Given the description of an element on the screen output the (x, y) to click on. 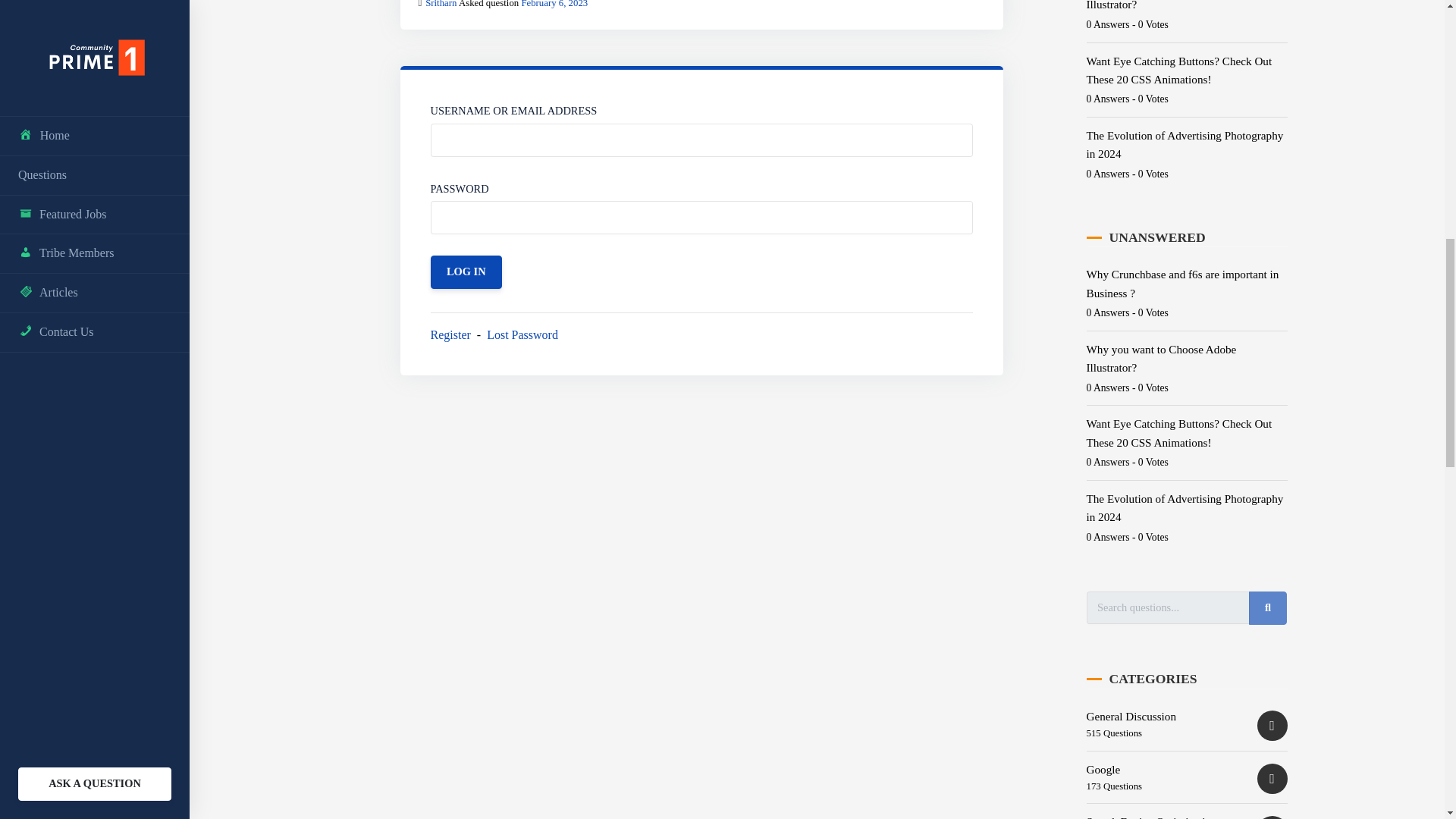
Register (450, 334)
Log In (466, 272)
February 6, 2023 (554, 4)
Sritharn (441, 4)
Log In (466, 272)
Lost Password (521, 334)
